Given the description of an element on the screen output the (x, y) to click on. 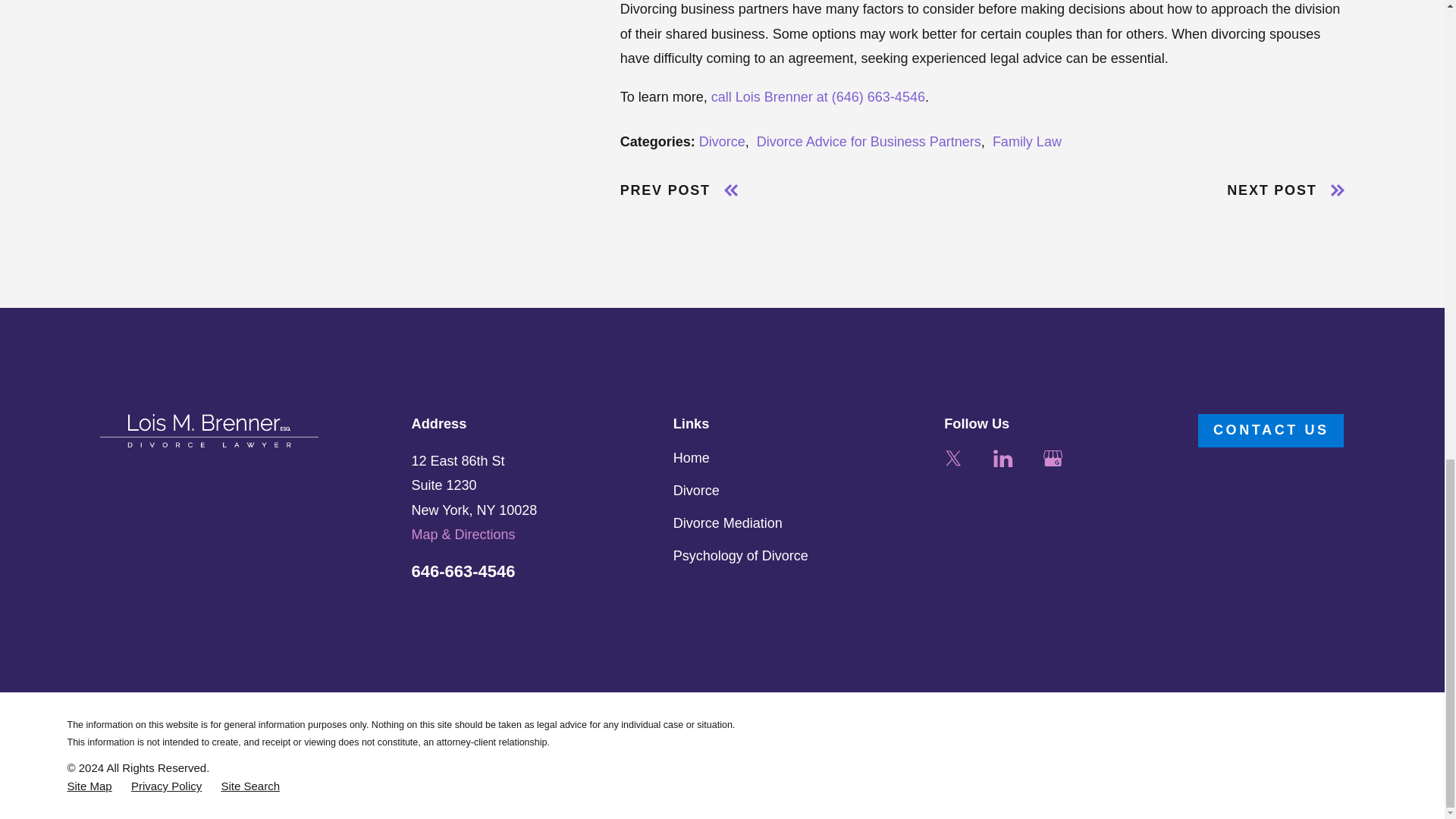
LinkedIn (1001, 457)
Home (209, 430)
Twitter (952, 457)
Google Business Profile (1052, 457)
